Given the description of an element on the screen output the (x, y) to click on. 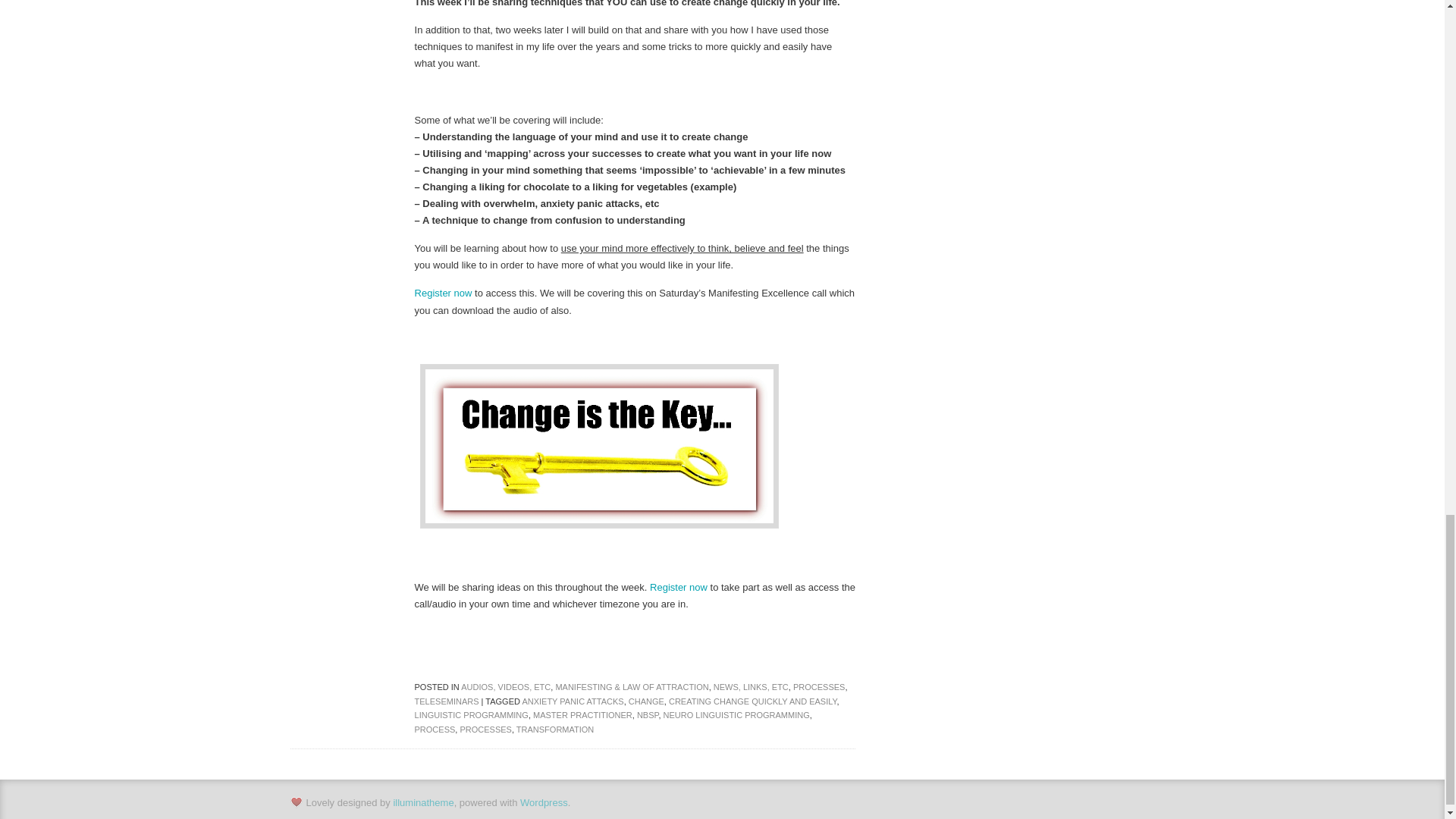
Man (442, 292)
Manifesting Excellence (678, 586)
